Given the description of an element on the screen output the (x, y) to click on. 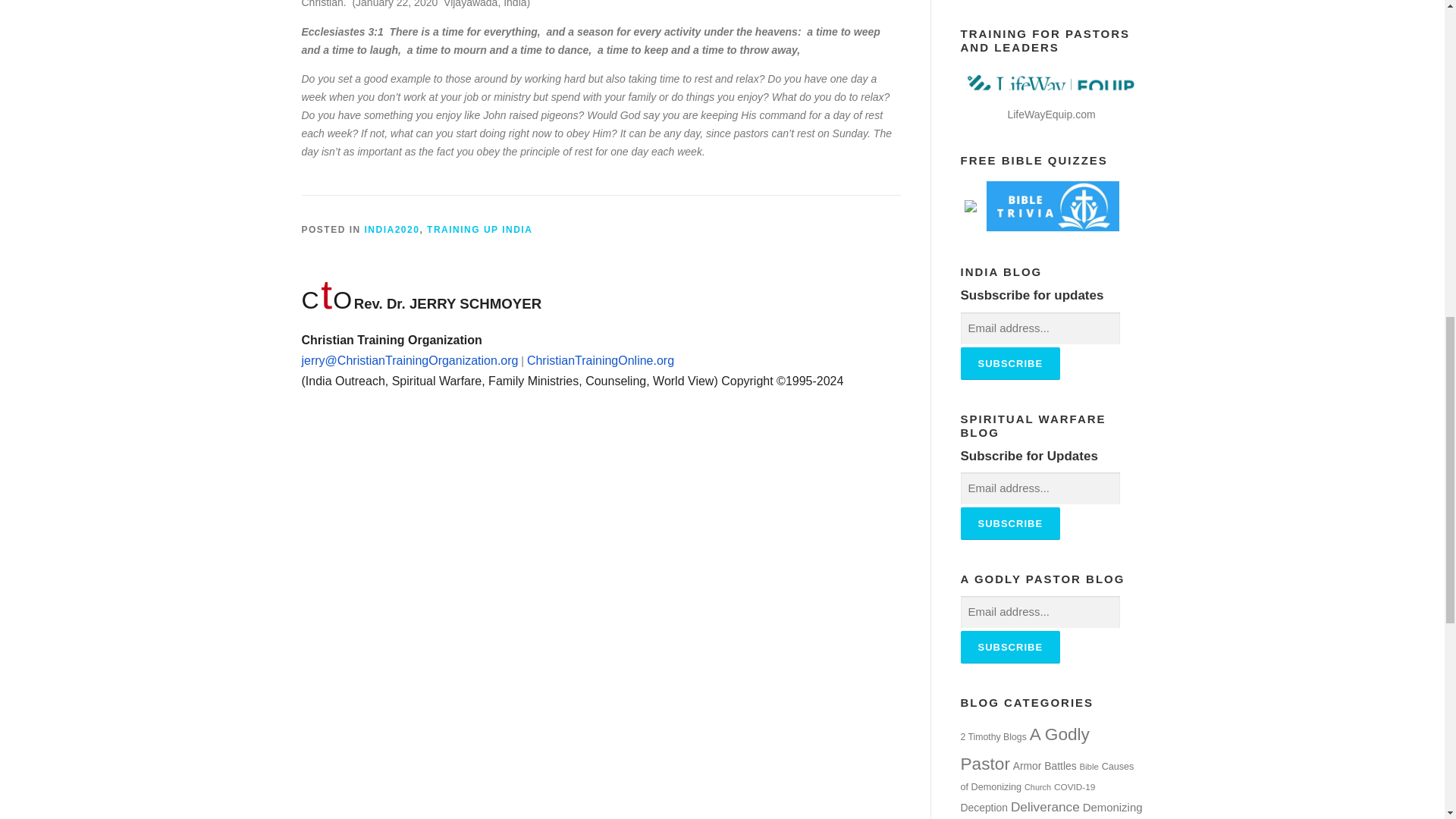
Subscribe (1009, 363)
Subscribe (1009, 646)
Subscribe (1009, 522)
TRAINING UP INDIA (479, 229)
LifeWayEquip.com (1050, 114)
ChristianTrainingOnline.org (599, 360)
INDIA2020 (392, 229)
